Given the description of an element on the screen output the (x, y) to click on. 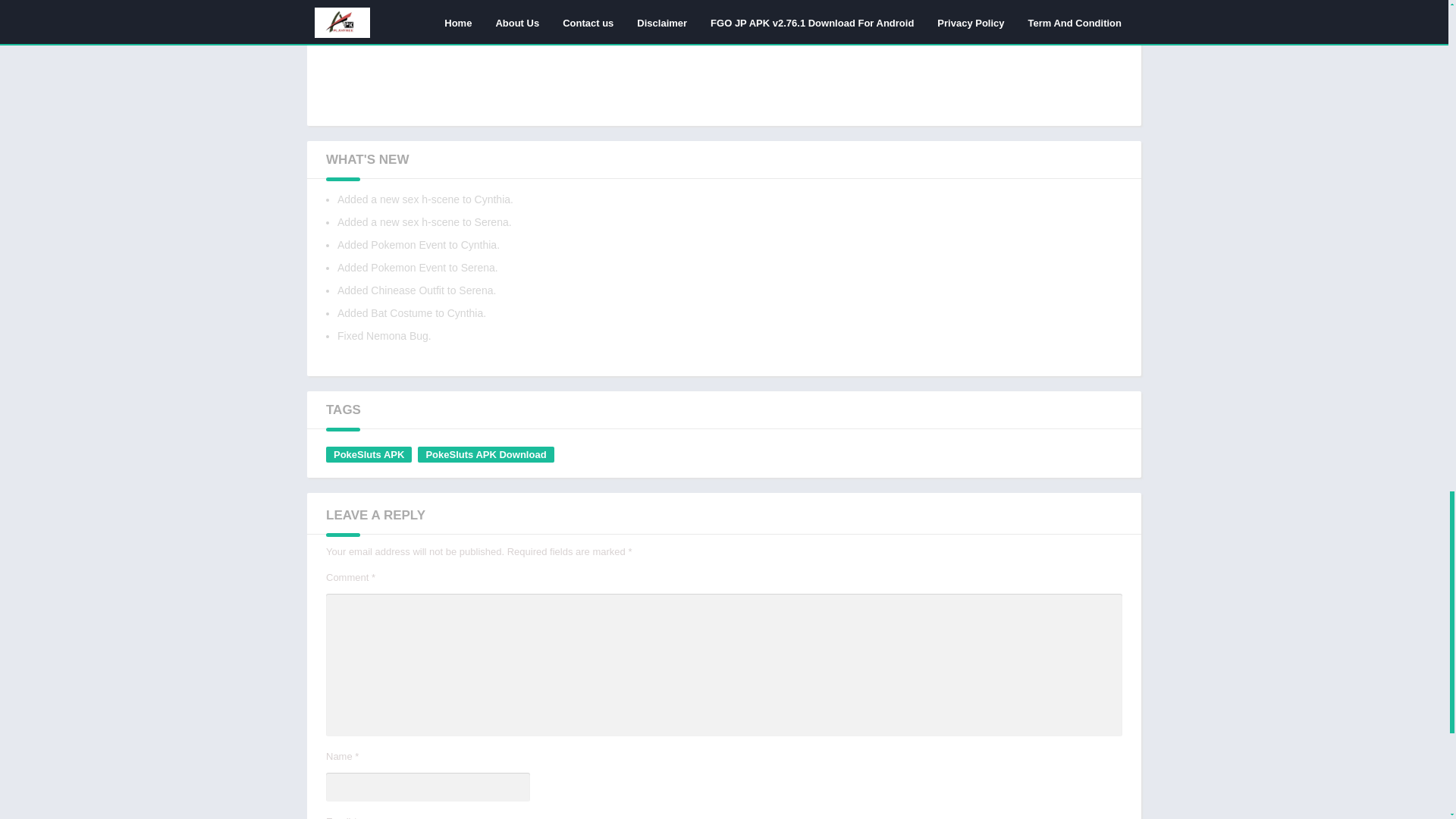
PokeSluts APK (369, 454)
PokeSluts APK Download (485, 454)
